Given the description of an element on the screen output the (x, y) to click on. 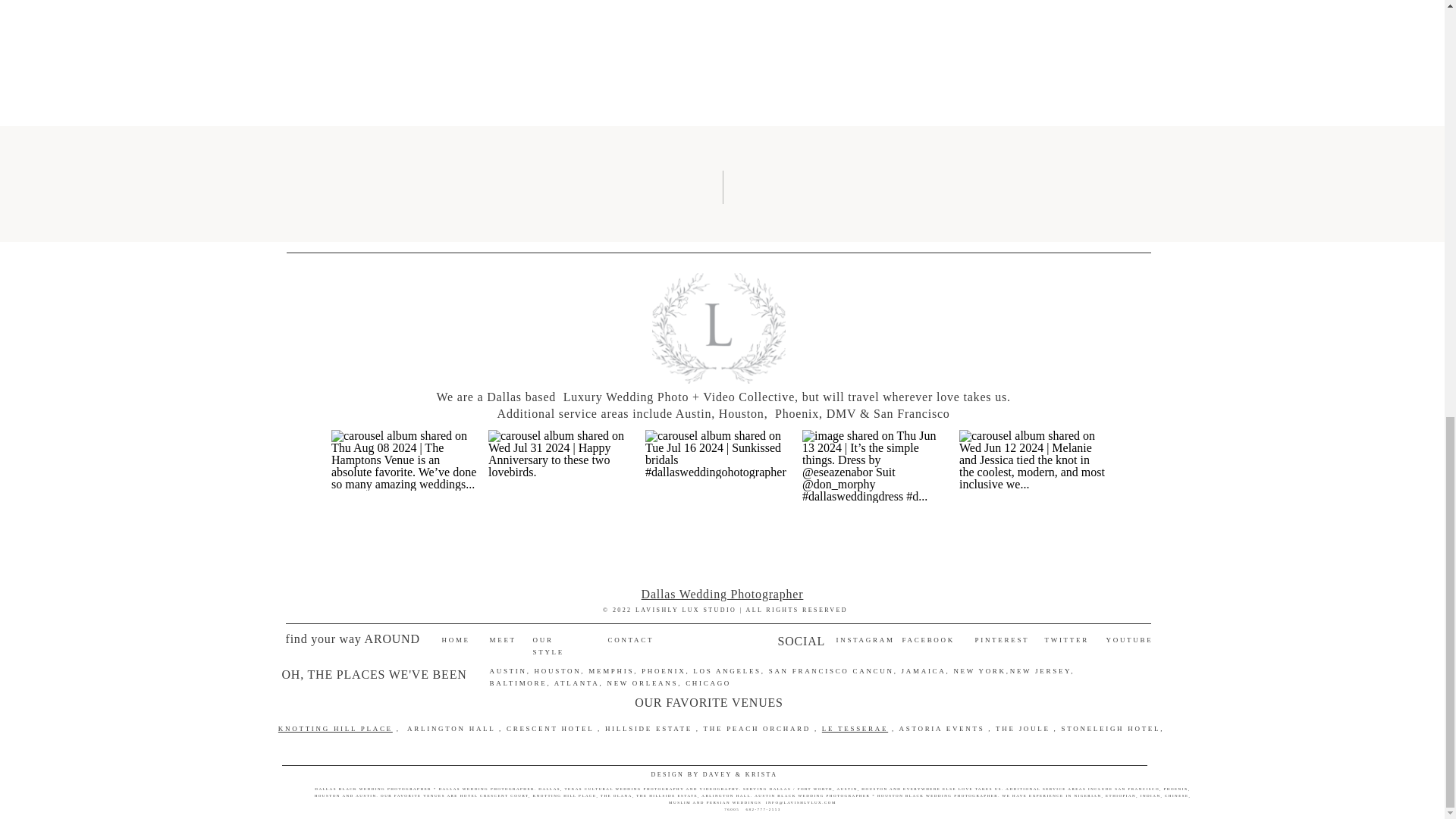
KNOTTING HILL PLACE (335, 728)
LE TESSERAE (855, 728)
OUR STYLE (560, 639)
HOME (454, 639)
MEET (500, 639)
PINTEREST (1002, 639)
YOUTUBE (1127, 639)
TWITTER (1067, 639)
INSTAGRAM (863, 639)
